Given the description of an element on the screen output the (x, y) to click on. 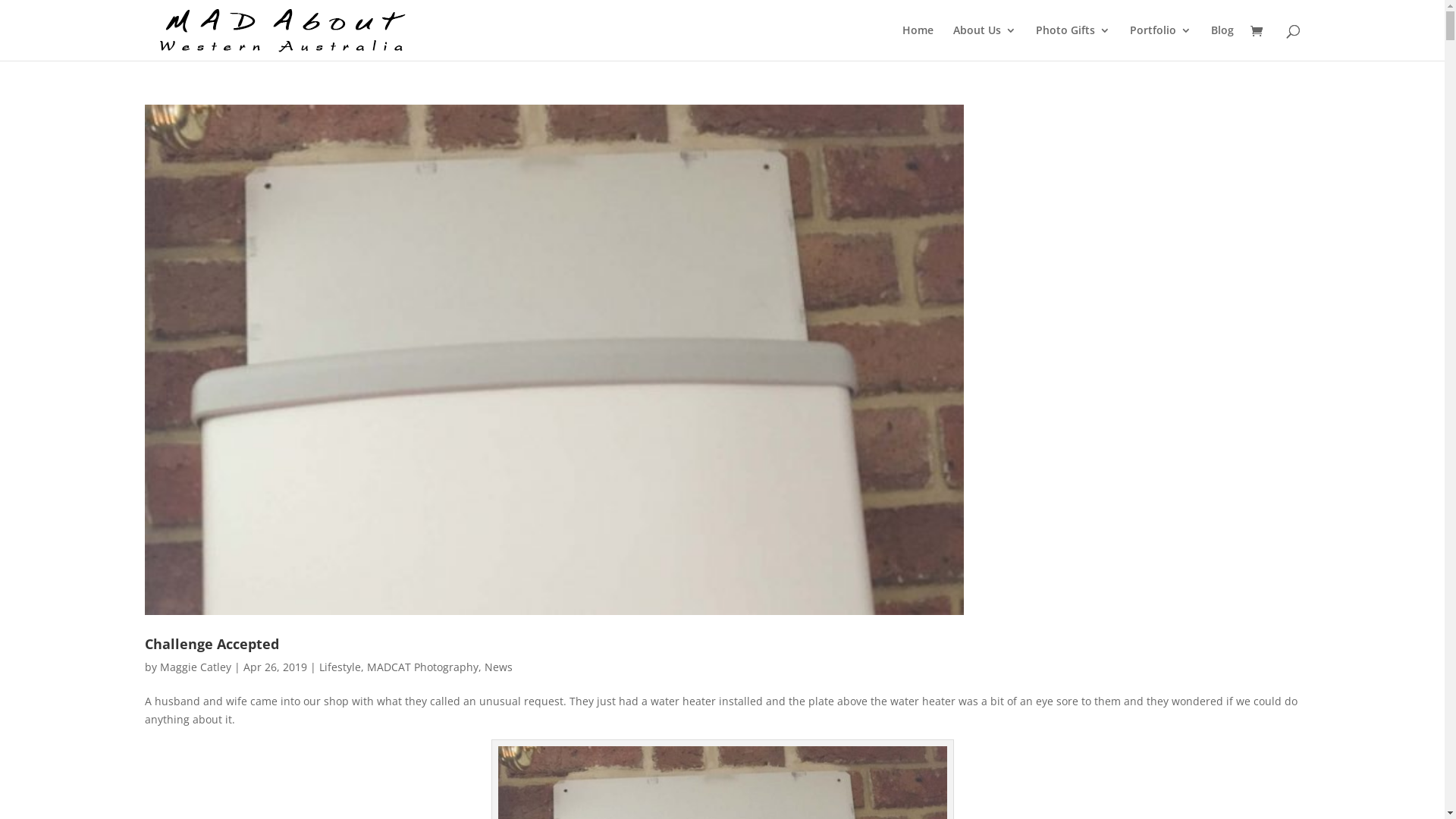
Home Element type: text (917, 42)
Portfolio Element type: text (1160, 42)
Challenge Accepted Element type: text (211, 643)
About Us Element type: text (983, 42)
News Element type: text (497, 666)
MADCAT Photography Element type: text (422, 666)
Lifestyle Element type: text (339, 666)
Blog Element type: text (1221, 42)
Maggie Catley Element type: text (194, 666)
Photo Gifts Element type: text (1072, 42)
